Given the description of an element on the screen output the (x, y) to click on. 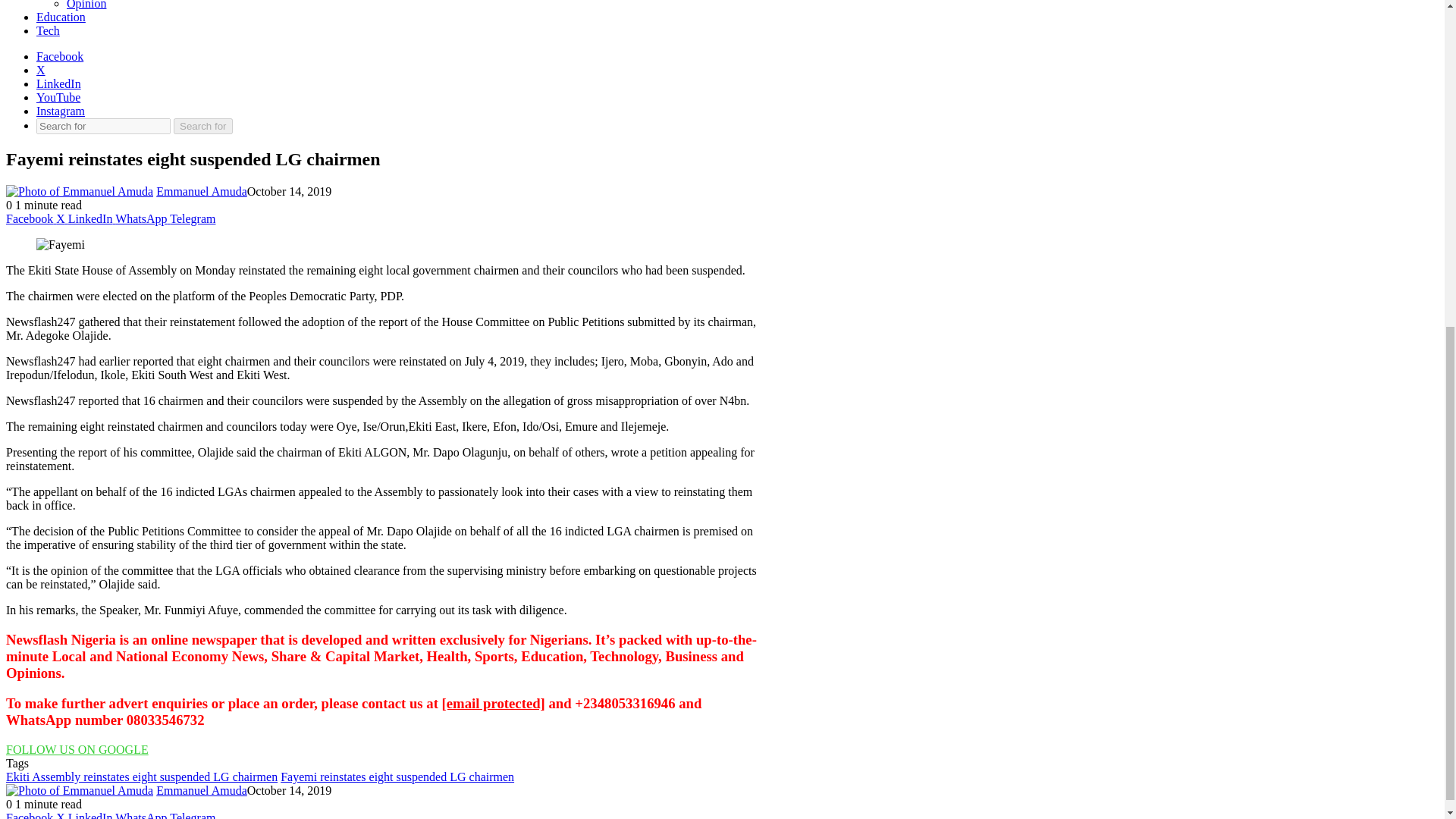
LinkedIn (91, 218)
YouTube (58, 97)
WhatsApp (142, 218)
Education (60, 16)
Instagram (60, 110)
X (62, 218)
Facebook (30, 218)
Tech (47, 30)
Telegram (192, 218)
Emmanuel Amuda (201, 191)
Search for (103, 125)
Facebook (59, 56)
Emmanuel Amuda (201, 789)
Opinion (86, 4)
LinkedIn (58, 83)
